Given the description of an element on the screen output the (x, y) to click on. 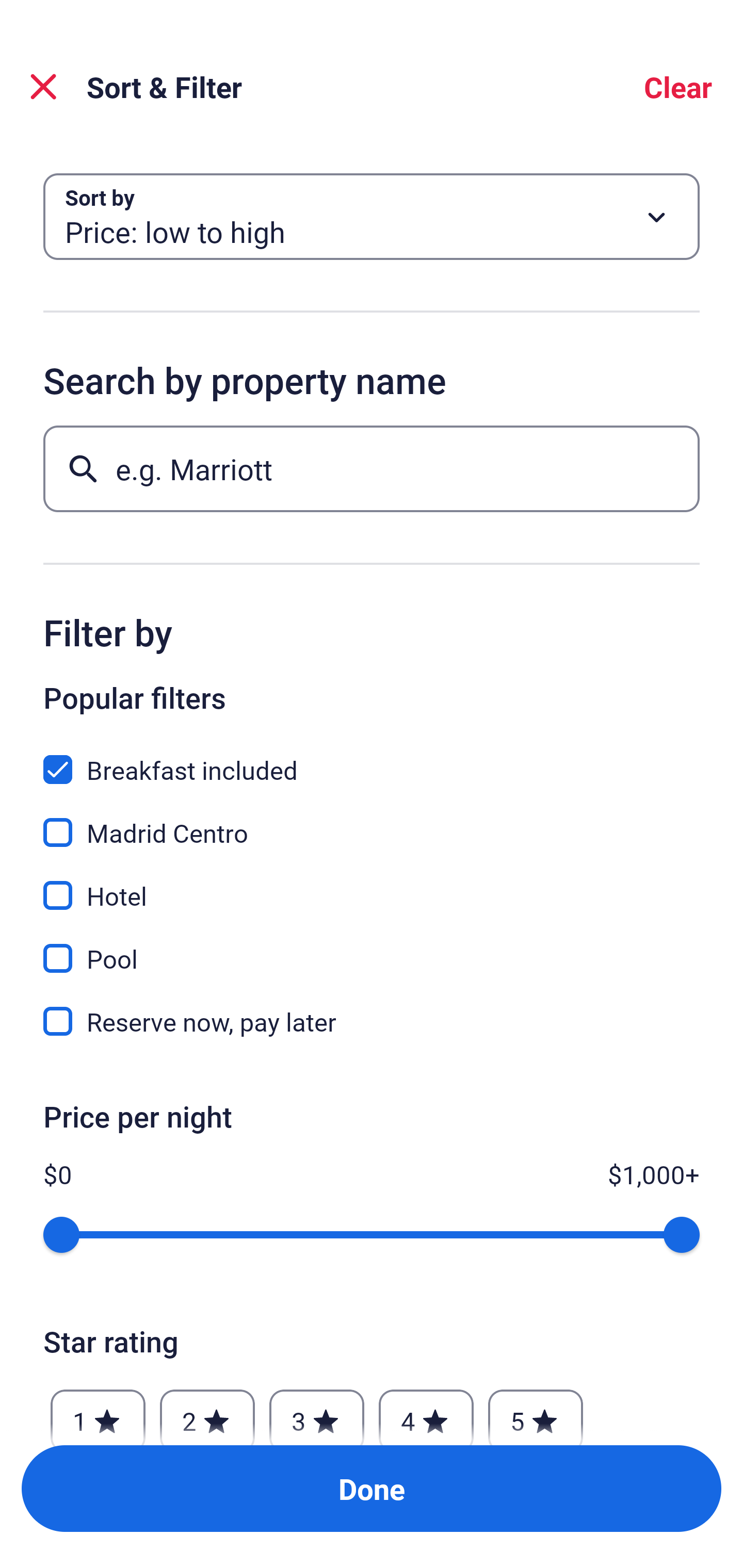
Close Sort and Filter (43, 86)
Clear (677, 86)
Sort by Button Price: low to high (371, 217)
e.g. Marriott Button (371, 468)
Breakfast included, Breakfast included (371, 757)
Madrid Centro, Madrid Centro (371, 821)
Hotel, Hotel (371, 883)
Pool, Pool (371, 946)
Reserve now, pay later, Reserve now, pay later (371, 1021)
1 (97, 1411)
2 (206, 1411)
3 (316, 1411)
4 (426, 1411)
5 (535, 1411)
Apply and close Sort and Filter Done (371, 1488)
